Given the description of an element on the screen output the (x, y) to click on. 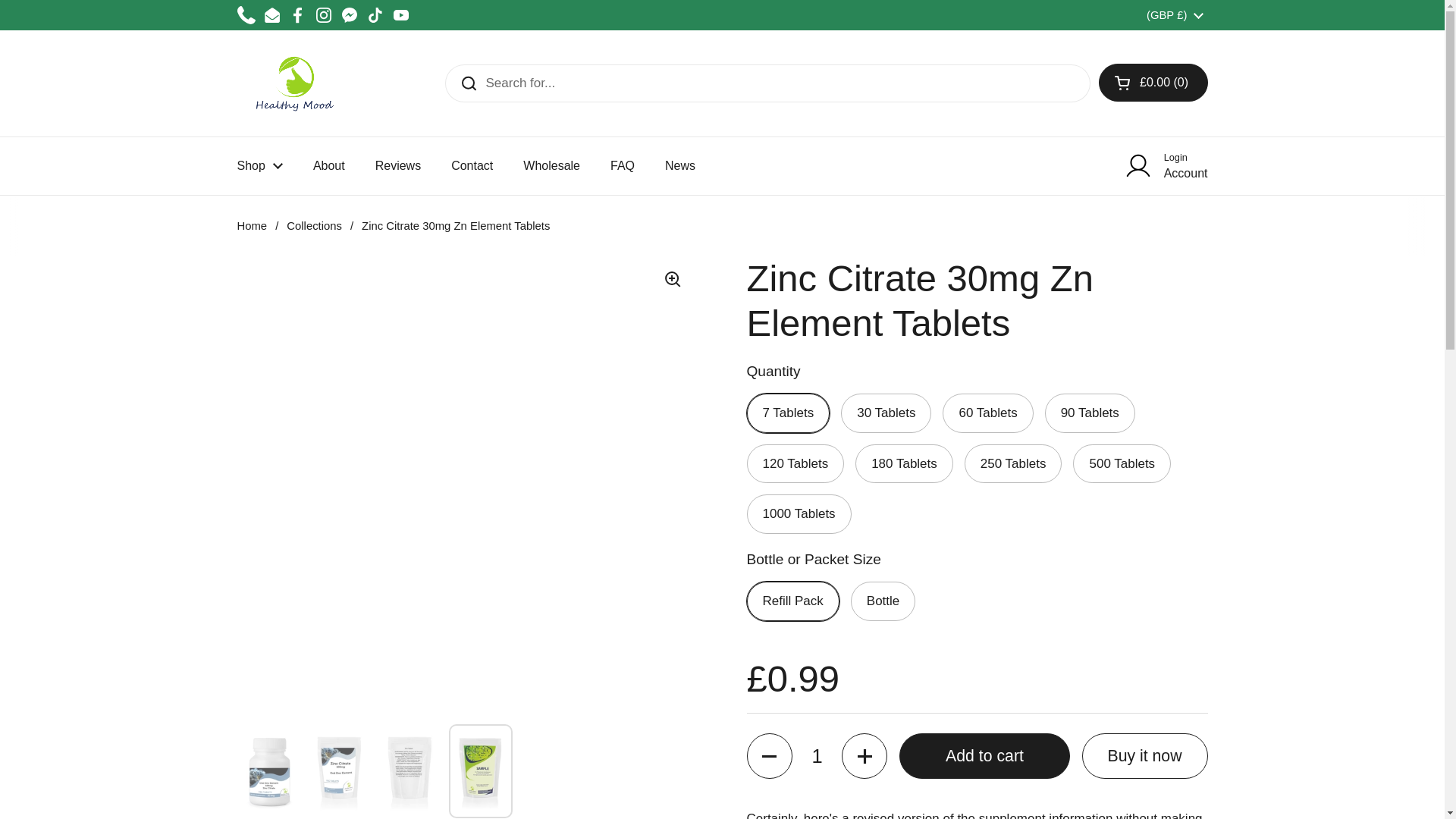
YouTube (400, 14)
1 (816, 755)
Open cart (1153, 82)
Shop (259, 165)
Healthy Mood (293, 83)
Phone (244, 14)
Facebook (296, 14)
TikTok (374, 14)
Instagram (322, 14)
